Given the description of an element on the screen output the (x, y) to click on. 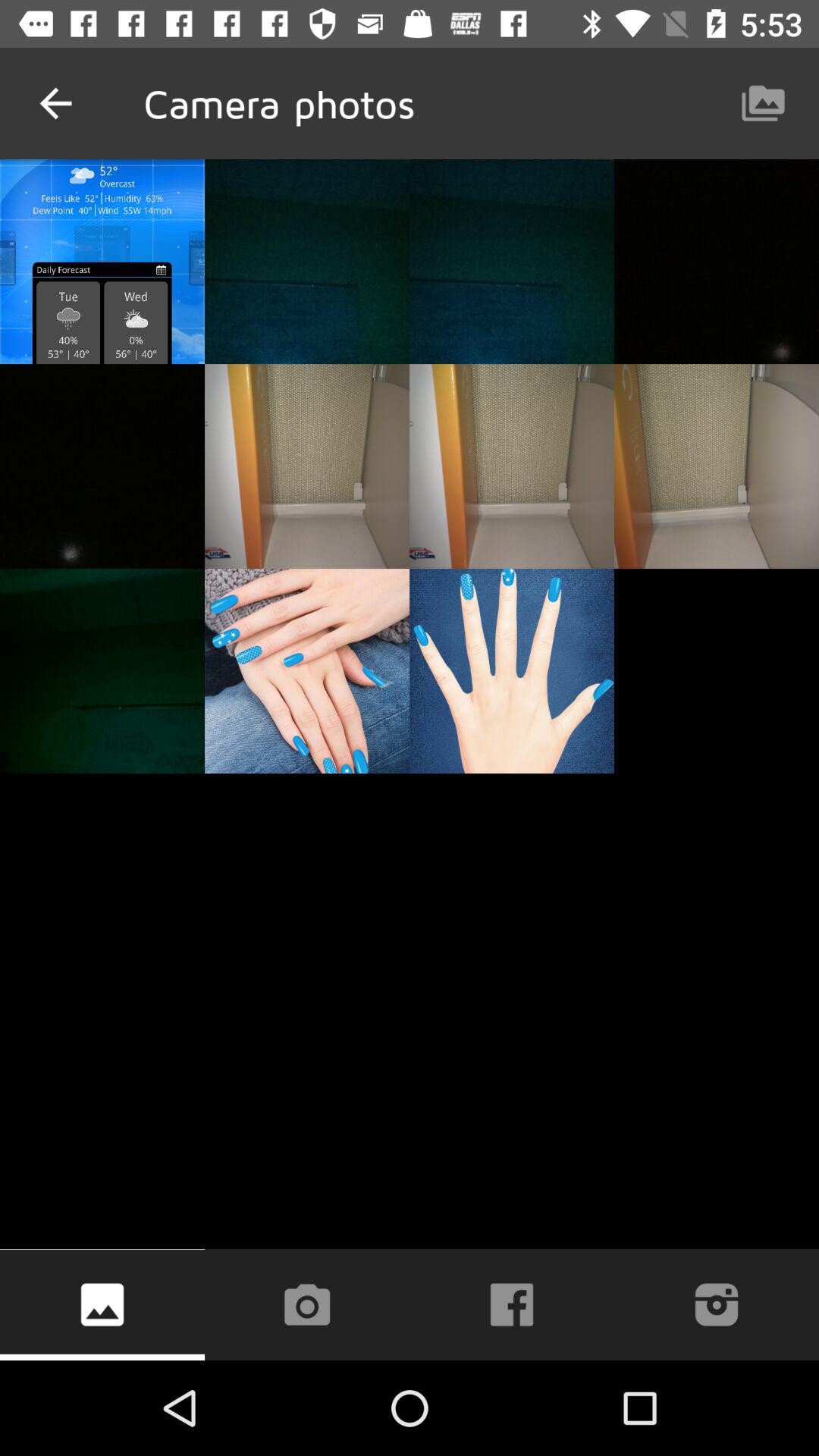
select the icon at the bottom right corner (716, 1304)
